Given the description of an element on the screen output the (x, y) to click on. 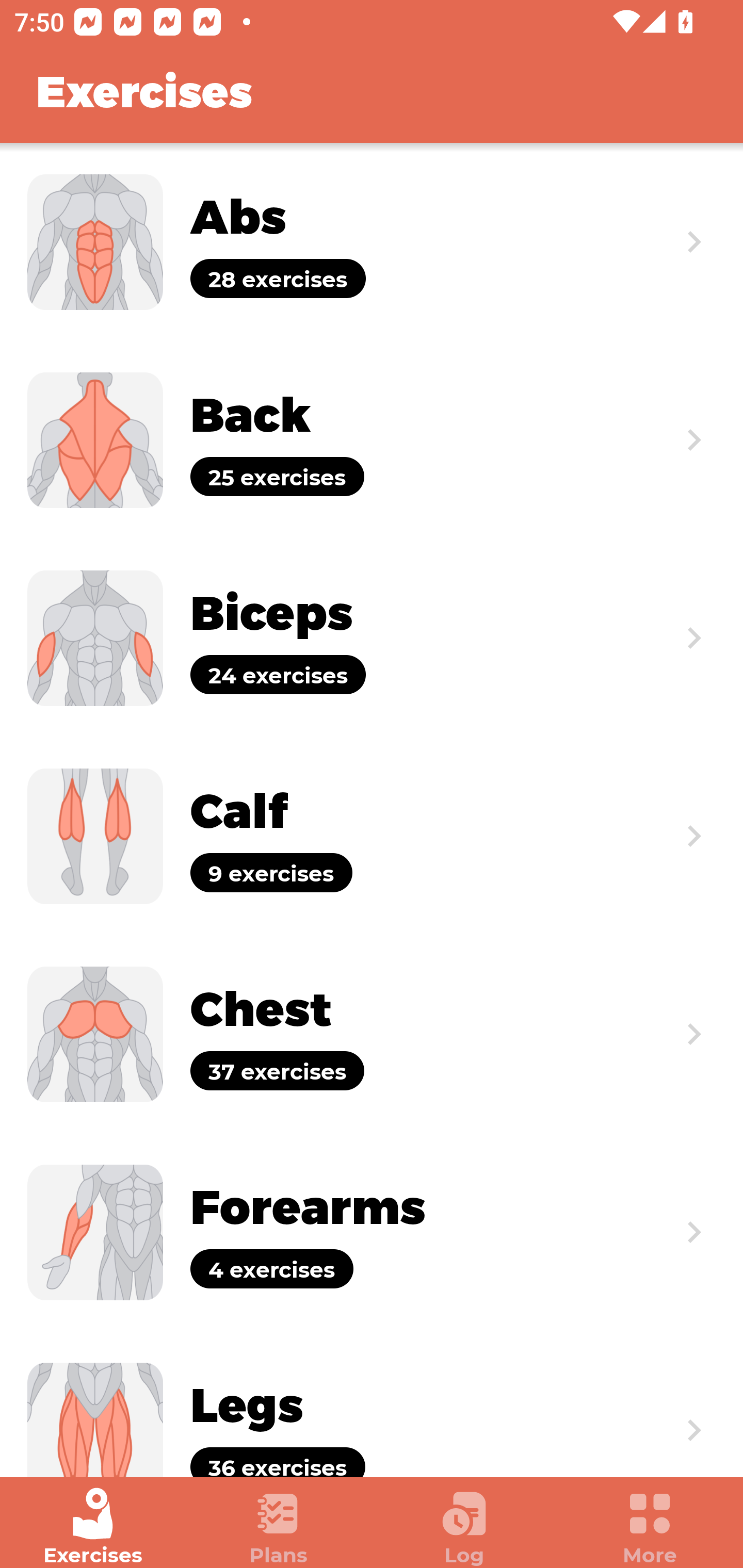
Exercise Abs 28 exercises (371, 241)
Exercise Back 25 exercises (371, 439)
Exercise Biceps 24 exercises (371, 637)
Exercise Calf 9 exercises (371, 836)
Exercise Chest 37 exercises (371, 1033)
Exercise Forearms 4 exercises (371, 1232)
Exercise Legs 36 exercises (371, 1404)
Exercises (92, 1527)
Plans (278, 1527)
Log (464, 1527)
More (650, 1527)
